Given the description of an element on the screen output the (x, y) to click on. 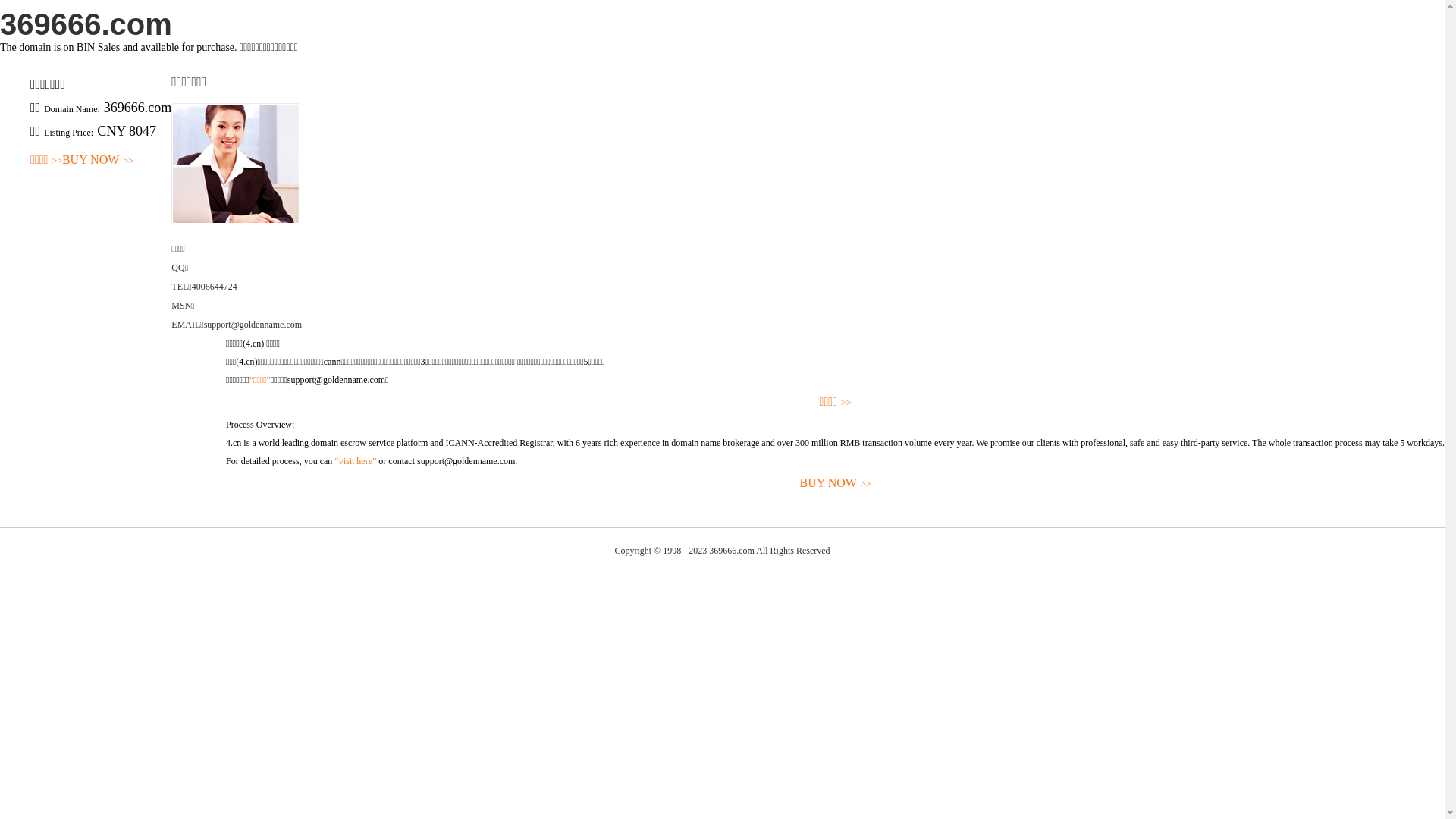
BUY NOW>> Element type: text (97, 160)
BUY NOW>> Element type: text (834, 483)
